Given the description of an element on the screen output the (x, y) to click on. 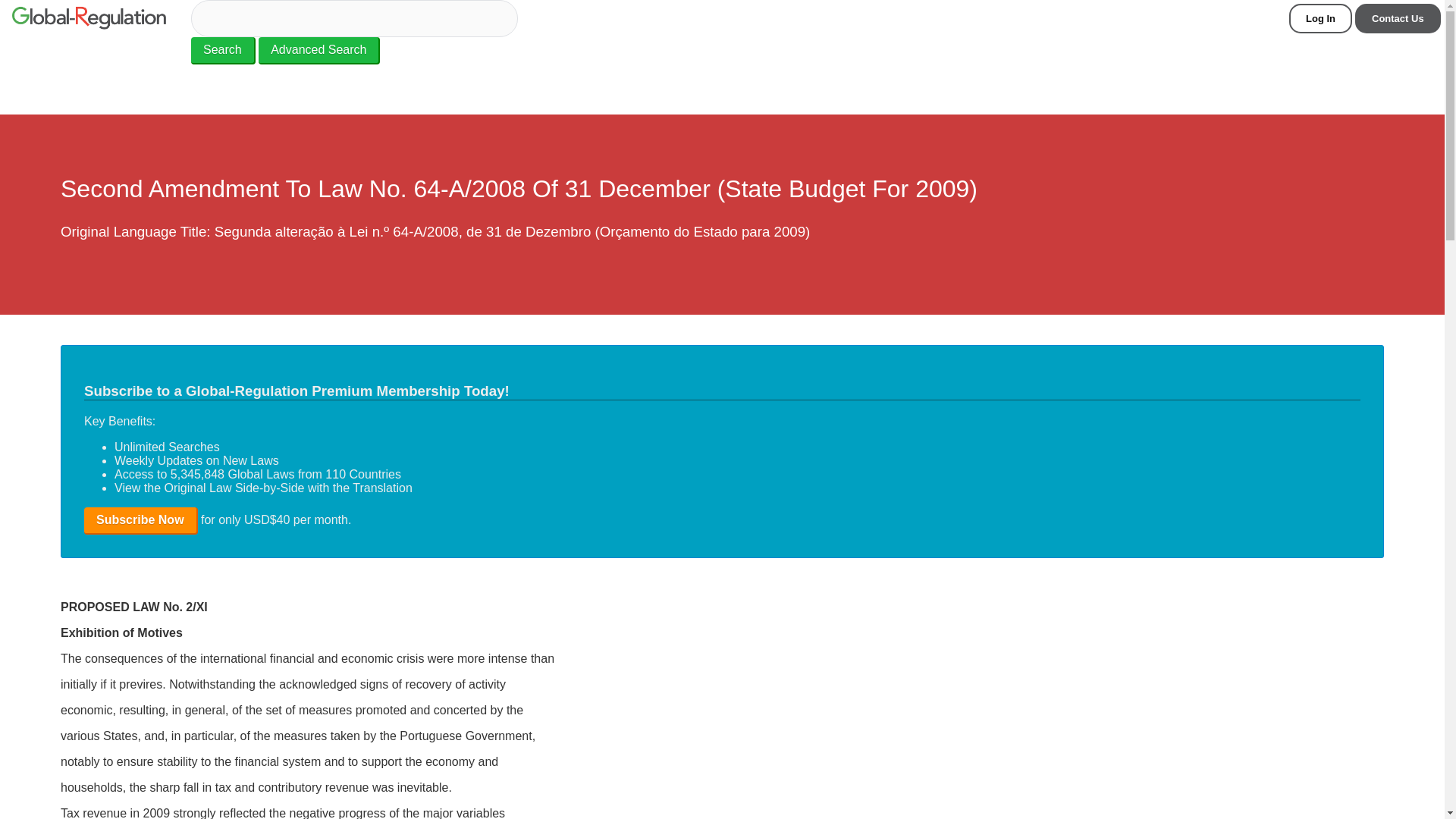
Log In (1320, 18)
Search (223, 50)
Subscribe Now (141, 520)
Global-Regulation (88, 19)
Contact Us (1398, 18)
Advanced Search (319, 50)
